Given the description of an element on the screen output the (x, y) to click on. 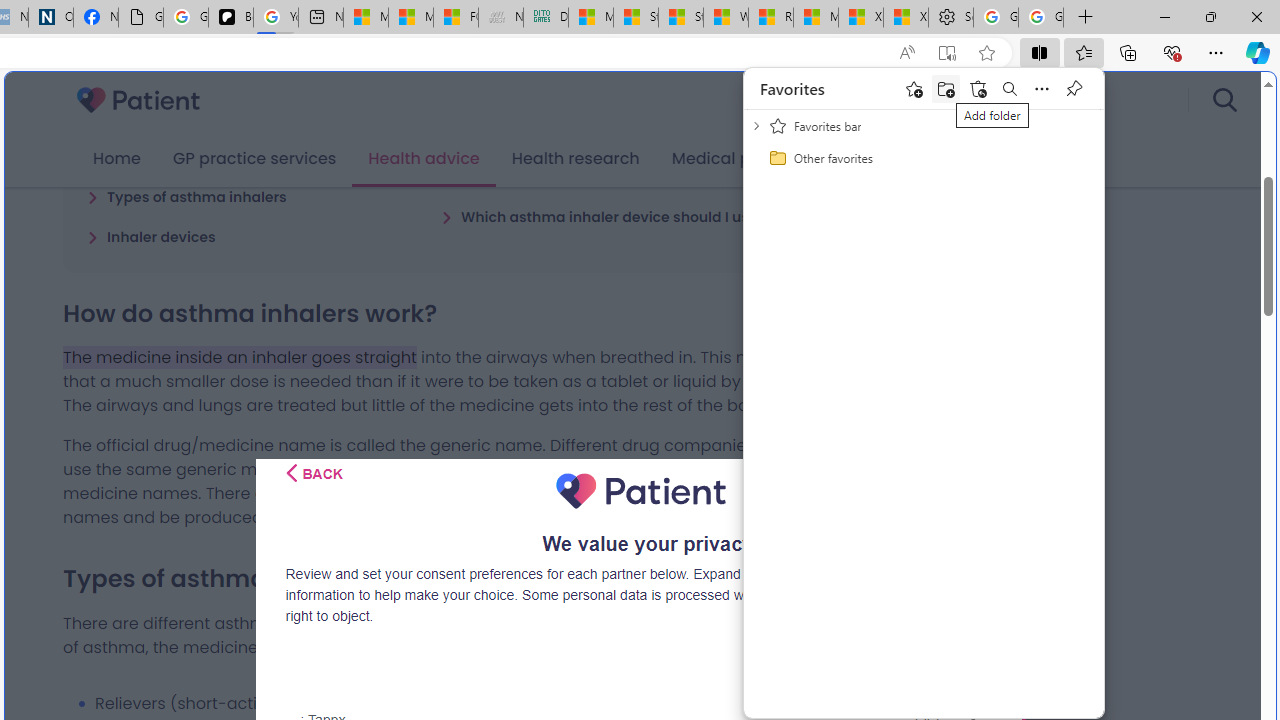
Class: css-i5klq5 (291, 473)
search (1223, 99)
How do asthma inhalers work? (206, 156)
Add folder (945, 88)
Types of asthma inhalers (186, 196)
Patient 3.0 (138, 100)
Health research (575, 159)
